Given the description of an element on the screen output the (x, y) to click on. 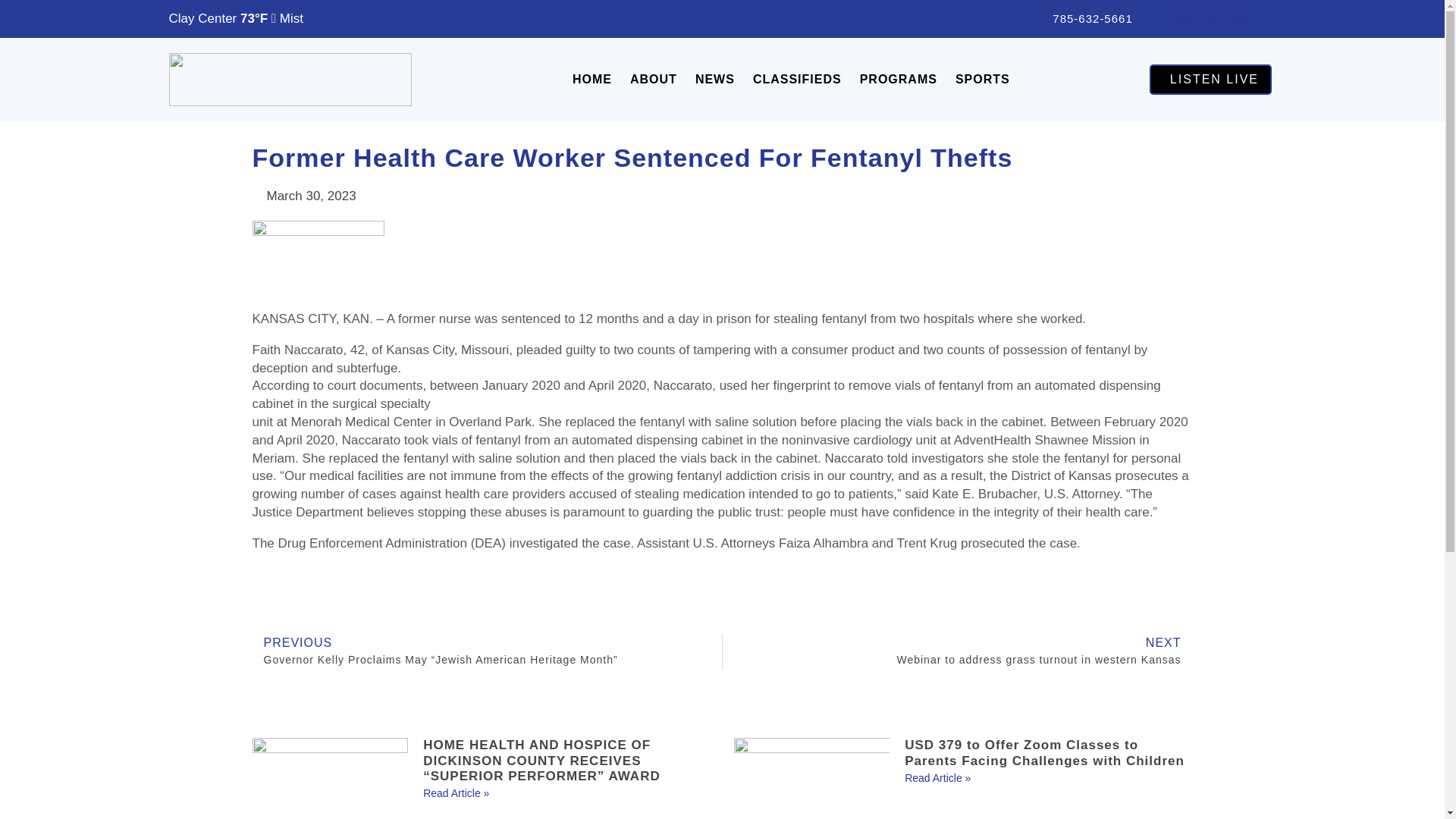
ABOUT (653, 79)
HOME (592, 79)
NEWS (714, 79)
CLASSIFIEDS (797, 79)
SPORTS (982, 79)
PROGRAMS (898, 79)
785-632-5661 (1079, 18)
